Given the description of an element on the screen output the (x, y) to click on. 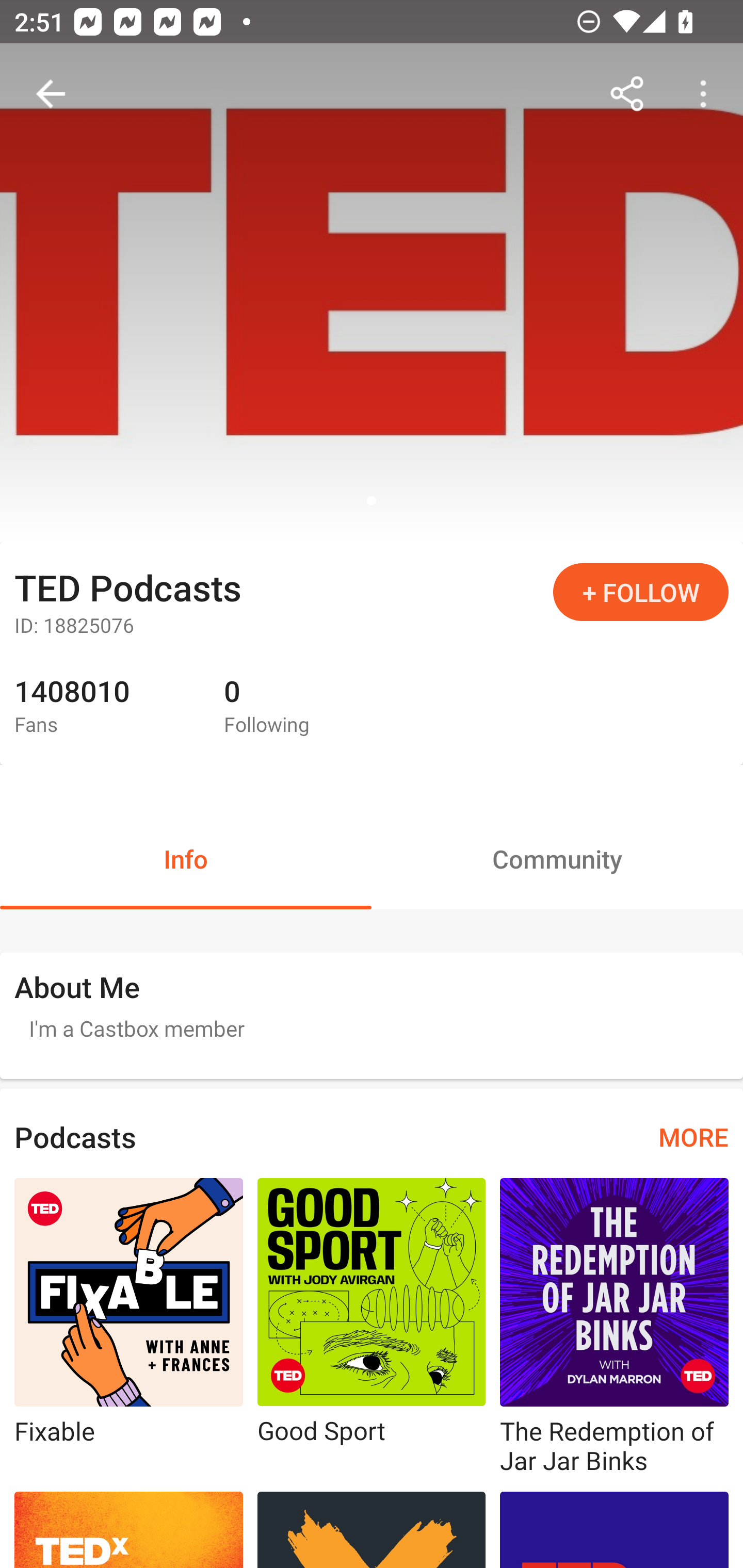
Navigate up (50, 93)
Share (626, 93)
More options (706, 93)
+ FOLLOW (640, 591)
1408010 Fans (104, 707)
0 Following (313, 707)
Info (185, 858)
Community (557, 858)
MORE (693, 1136)
Fixable (128, 1327)
Good Sport (371, 1327)
The Redemption of Jar Jar Binks (613, 1327)
